Given the description of an element on the screen output the (x, y) to click on. 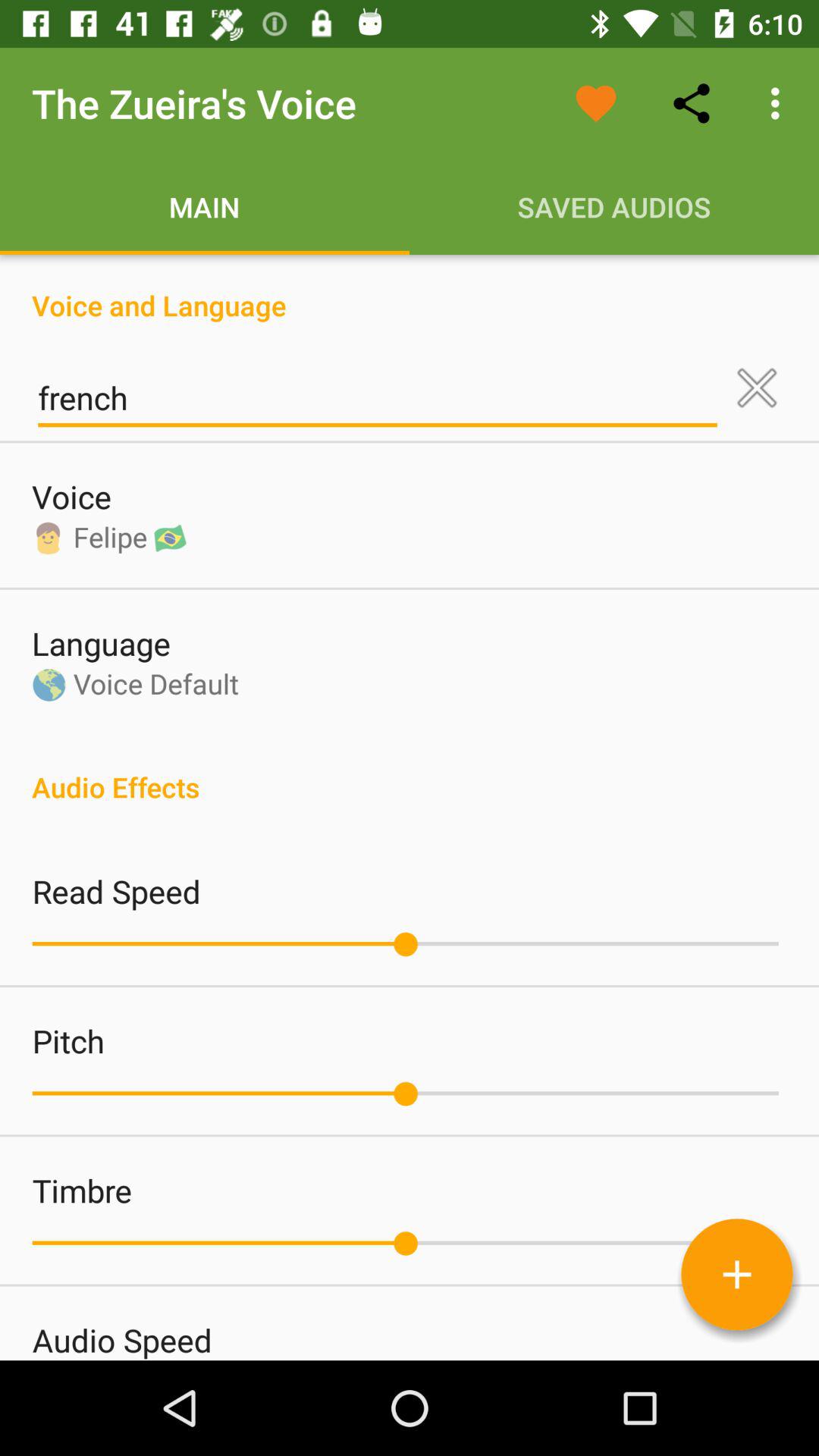
click the item above the voice and language item (779, 103)
